Given the description of an element on the screen output the (x, y) to click on. 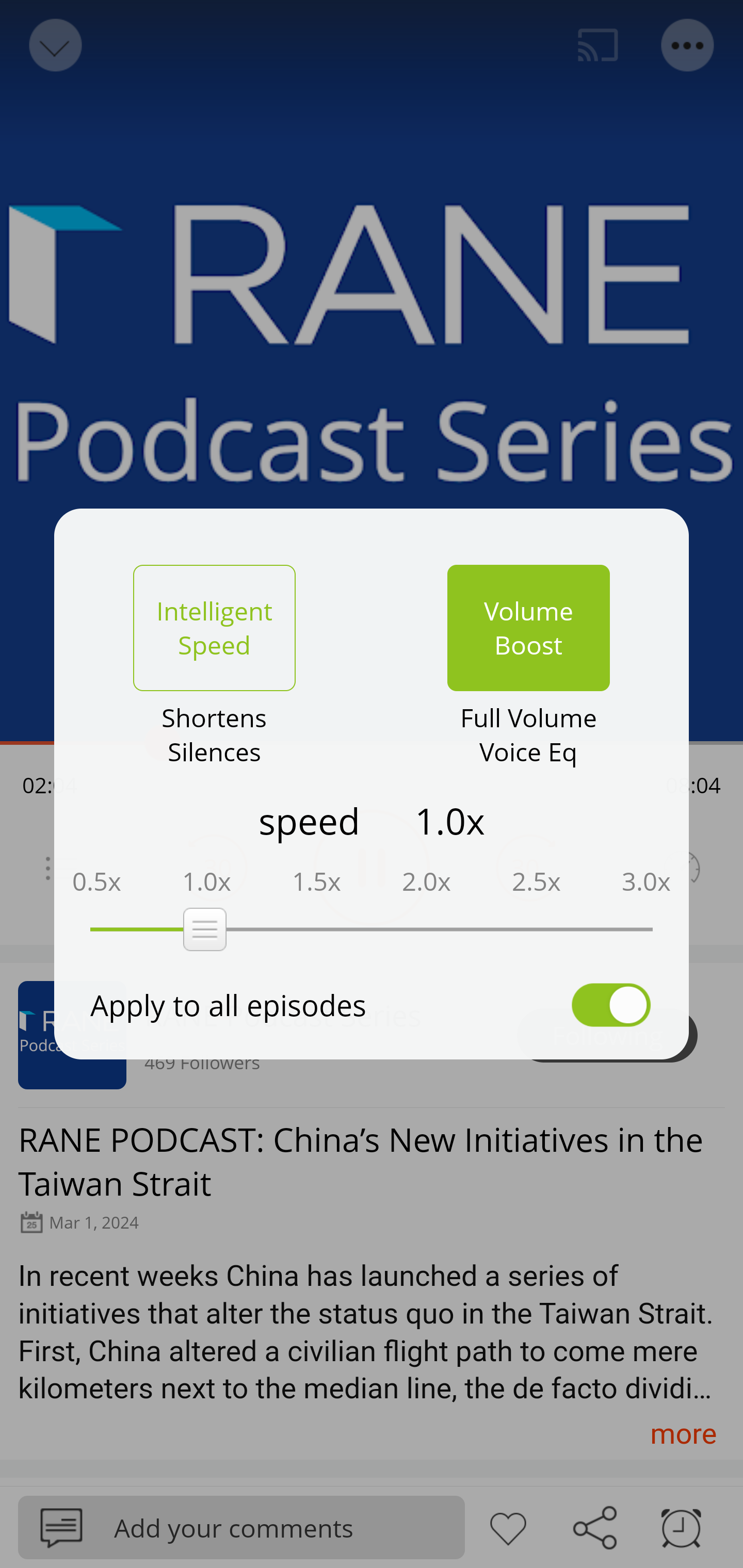
Intelligent
Speed (213, 627)
Volume
Boost (528, 627)
